Given the description of an element on the screen output the (x, y) to click on. 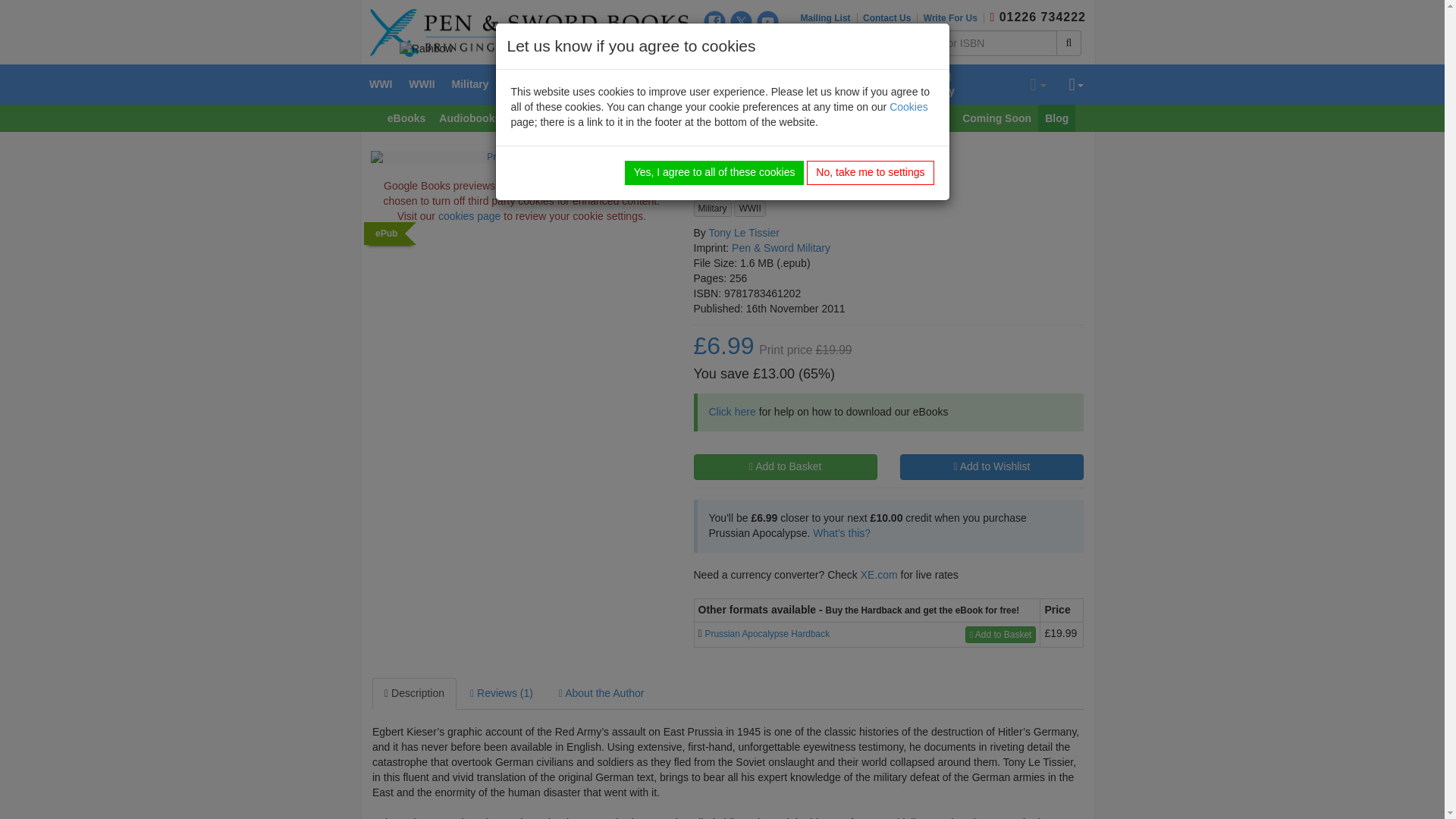
Write For Us (953, 18)
Facebook (714, 21)
TikTok (741, 45)
X (741, 21)
Instagram (714, 45)
YouTube (767, 21)
Your basket is empty (1037, 84)
Mailing List (828, 18)
NetGalley (780, 47)
Contact Us (890, 18)
